Given the description of an element on the screen output the (x, y) to click on. 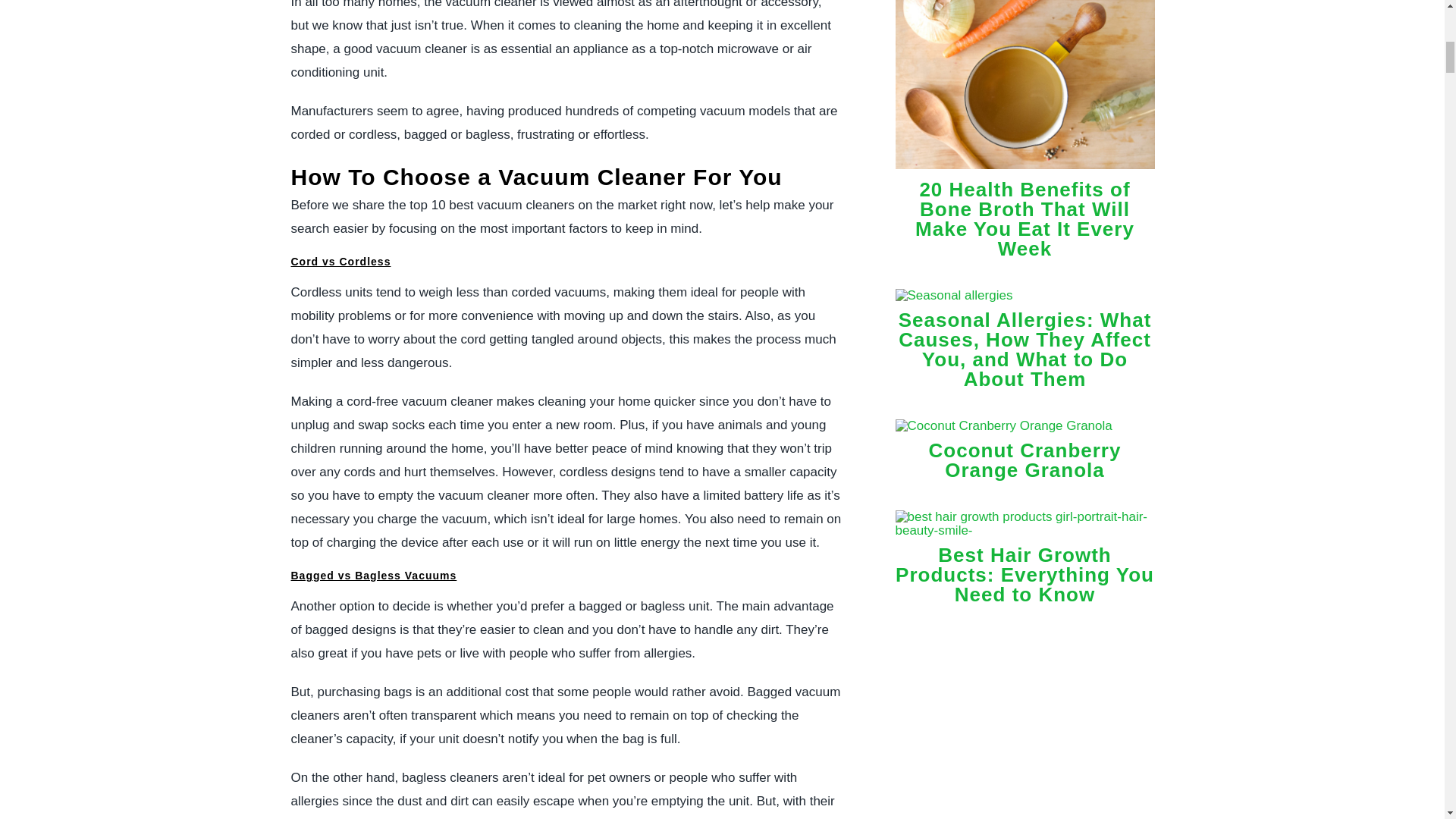
Coconut Cranberry Orange Granola (1024, 459)
Best Hair Growth Products: Everything You Need to Know (1024, 530)
Best Hair Growth Products: Everything You Need to Know (1024, 574)
Coconut Cranberry Orange Granola (1003, 425)
